Given the description of an element on the screen output the (x, y) to click on. 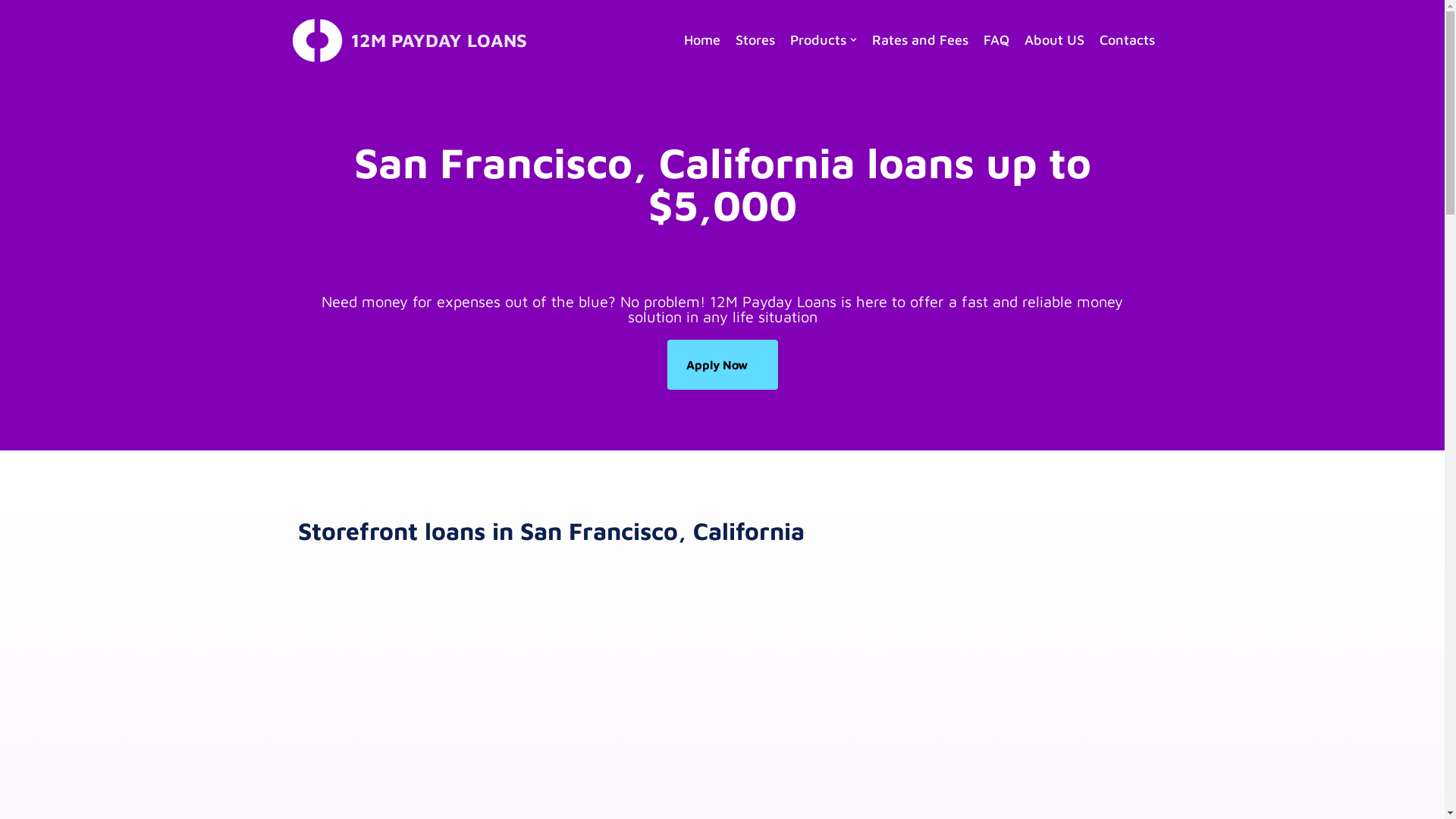
12M PAYDAY LOANS Element type: text (407, 39)
Products Element type: text (823, 40)
FAQ Element type: text (995, 40)
Contacts Element type: text (1126, 40)
Apply Now Element type: text (722, 364)
Stores Element type: text (755, 40)
Home Element type: text (702, 40)
Rates and Fees Element type: text (920, 40)
Skip to content Element type: text (11, 31)
About US Element type: text (1053, 40)
